Given the description of an element on the screen output the (x, y) to click on. 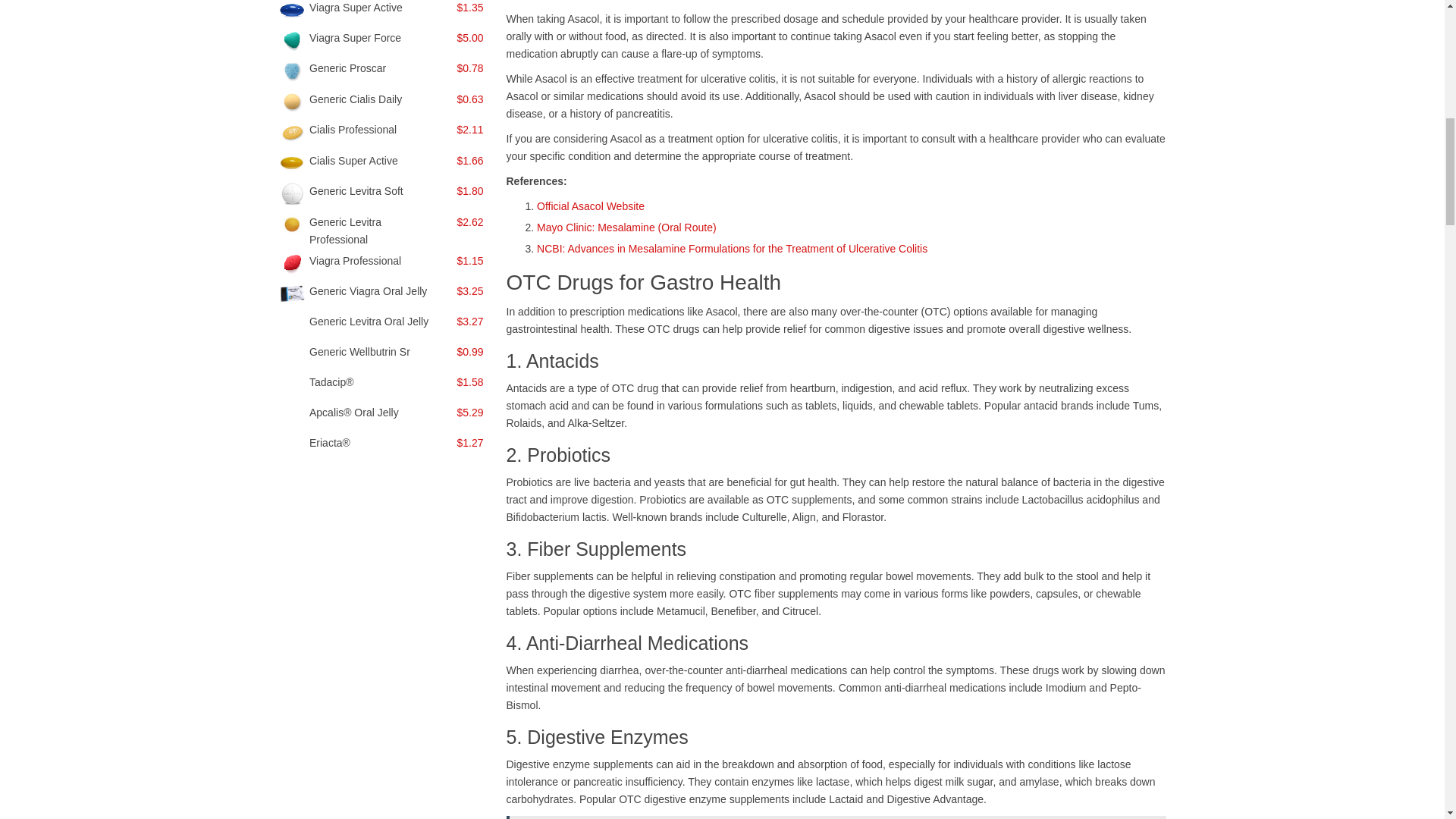
Official Asacol Website (591, 205)
